Given the description of an element on the screen output the (x, y) to click on. 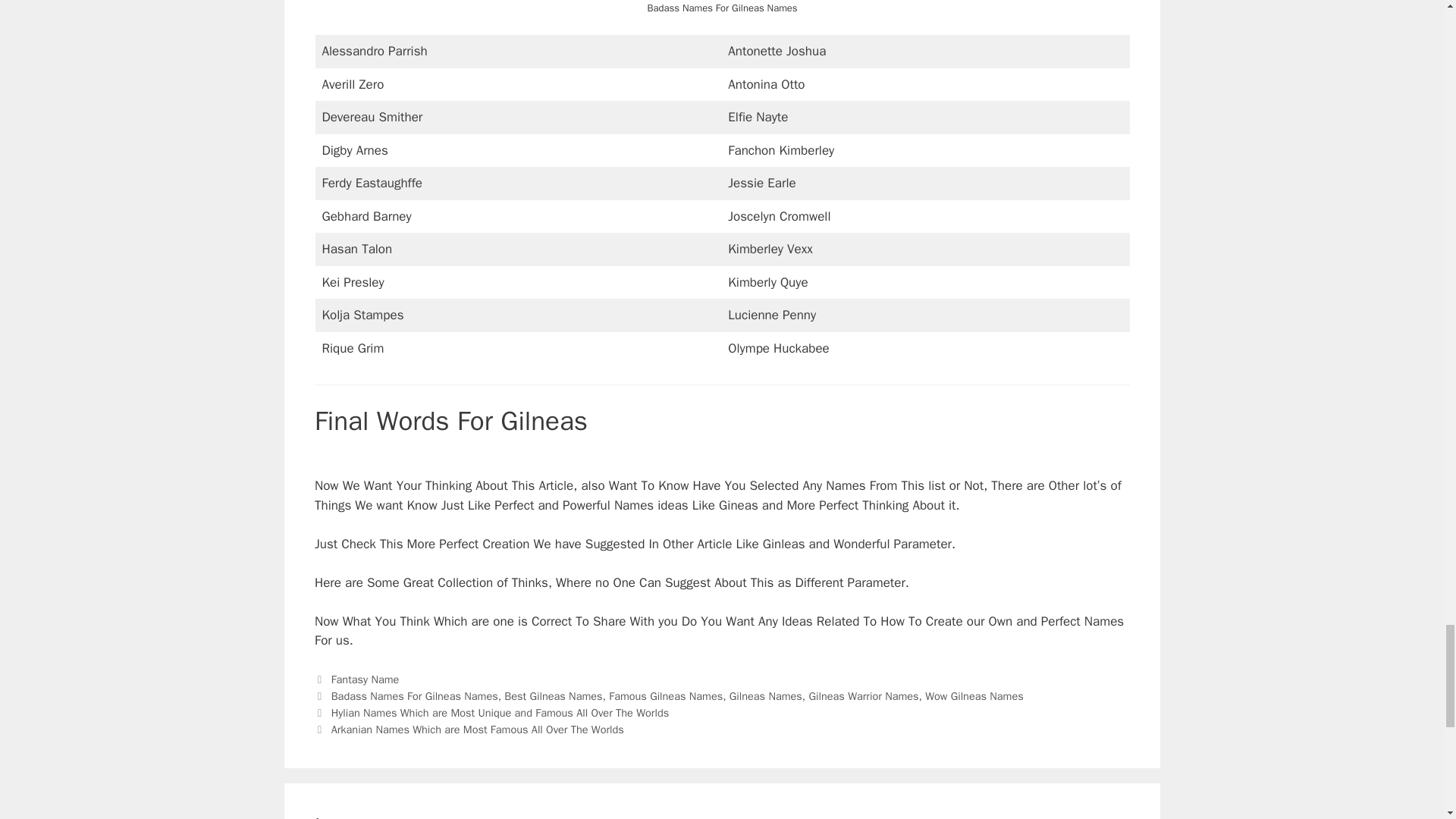
Badass Names For Gilneas Names (414, 695)
Previous (491, 712)
Gilneas Warrior Names (863, 695)
Arkanian Names Which are Most Famous All Over The Worlds (477, 728)
Fantasy Name (364, 679)
Wow Gilneas Names (973, 695)
Gilneas Names (765, 695)
Next (469, 728)
Best Gilneas Names (552, 695)
